Given the description of an element on the screen output the (x, y) to click on. 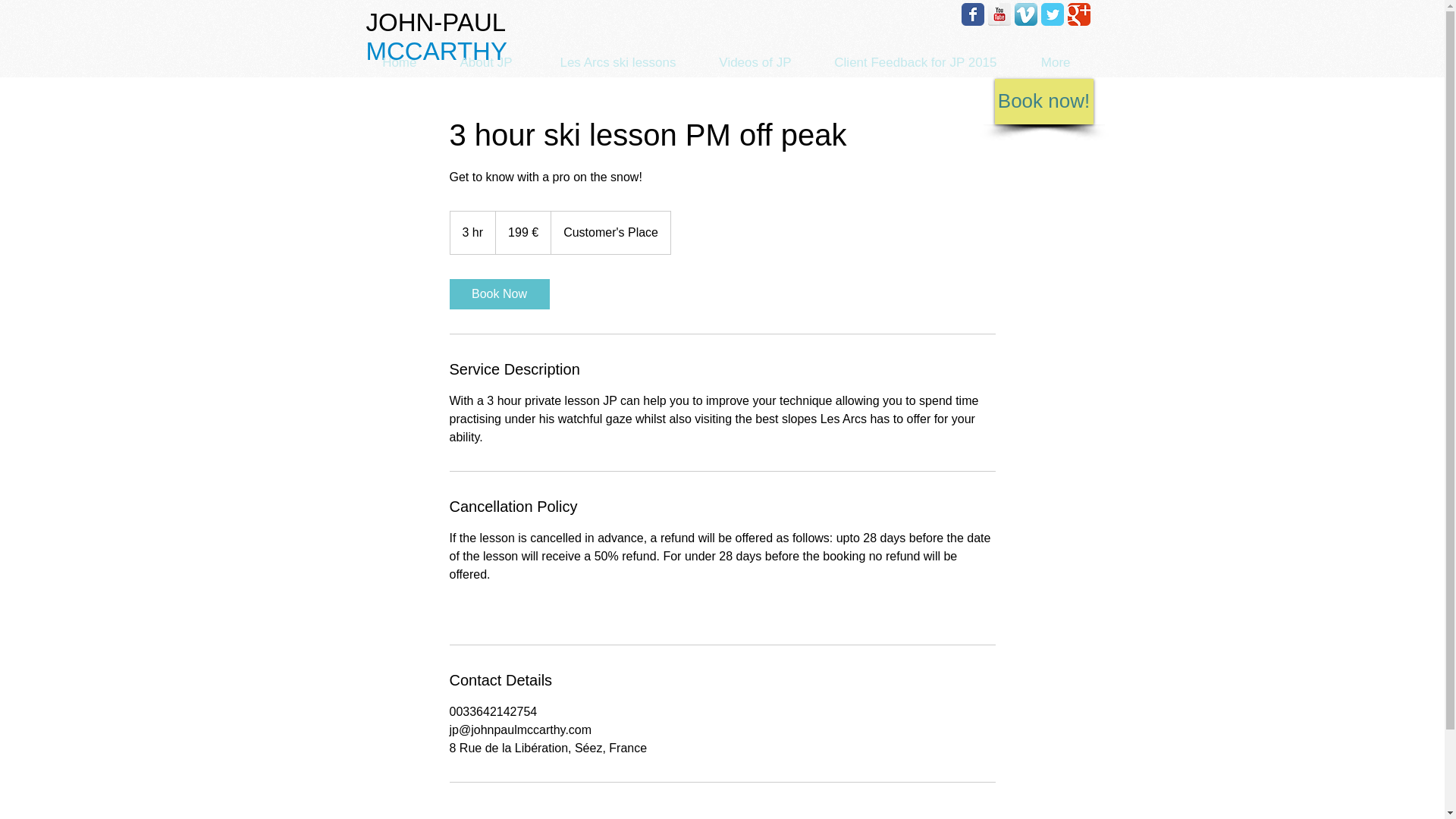
Home (392, 62)
Book now! (1043, 101)
Videos of JP (748, 62)
About JP (479, 62)
Book Now (498, 294)
Client Feedback for JP 2015 (908, 62)
Les Arcs ski lessons (609, 62)
